Given the description of an element on the screen output the (x, y) to click on. 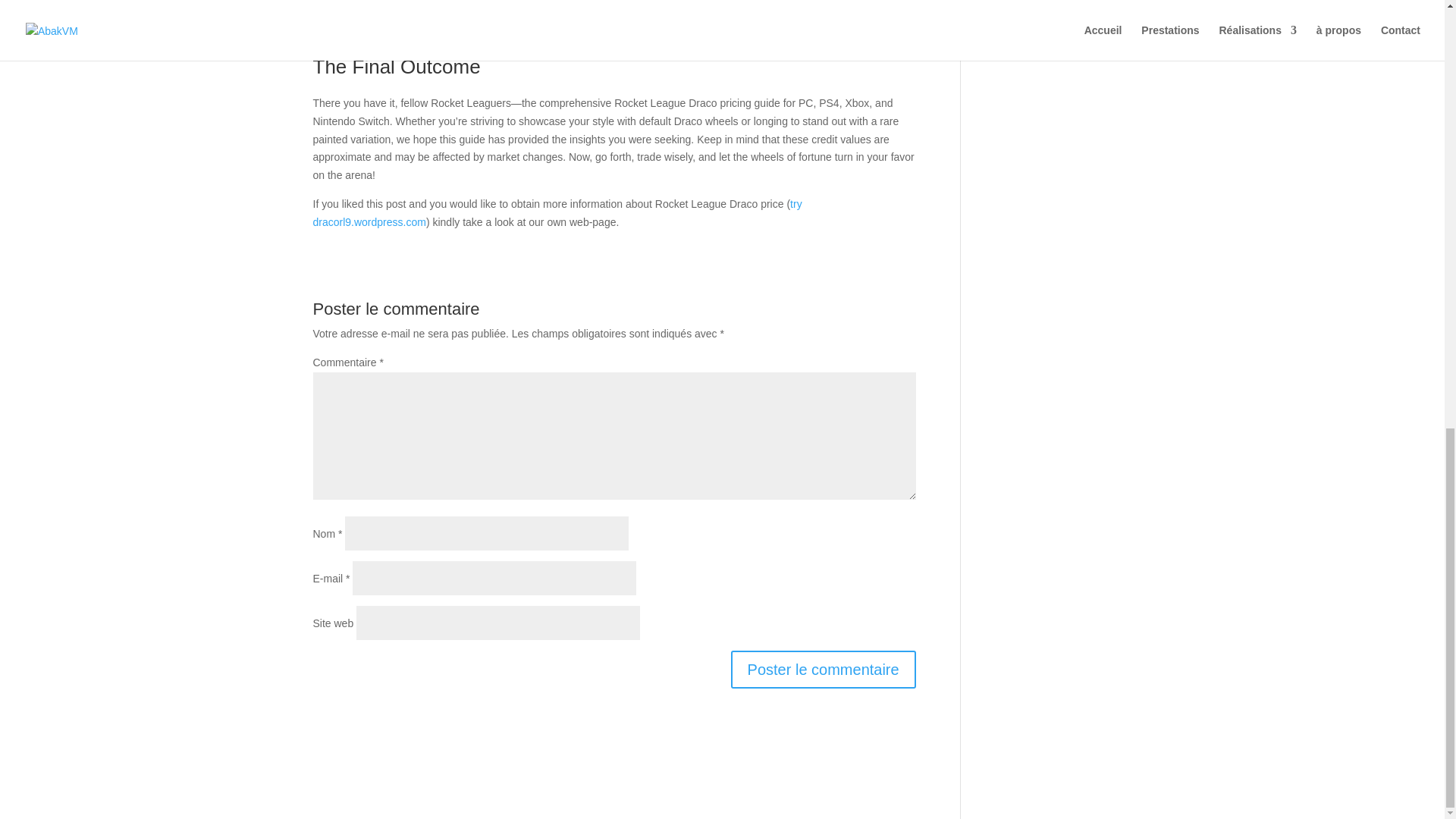
Poster le commentaire (822, 669)
try dracorl9.wordpress.com (557, 213)
Poster le commentaire (822, 669)
